Given the description of an element on the screen output the (x, y) to click on. 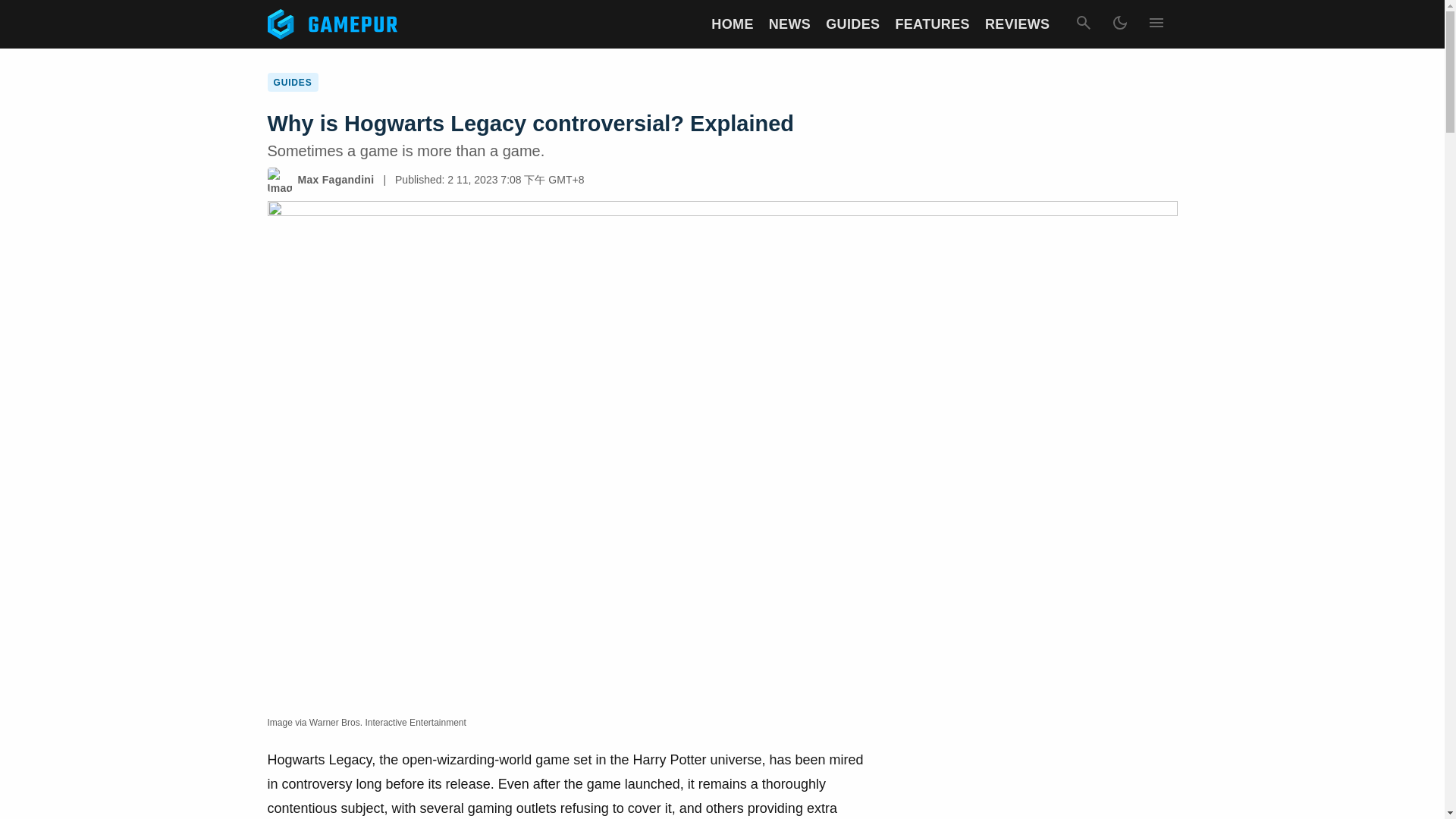
Search (1082, 23)
GUIDES (852, 23)
HOME (731, 23)
Expand Menu (1155, 23)
Dark Mode (1118, 23)
REVIEWS (1017, 23)
FEATURES (932, 23)
NEWS (789, 23)
